Given the description of an element on the screen output the (x, y) to click on. 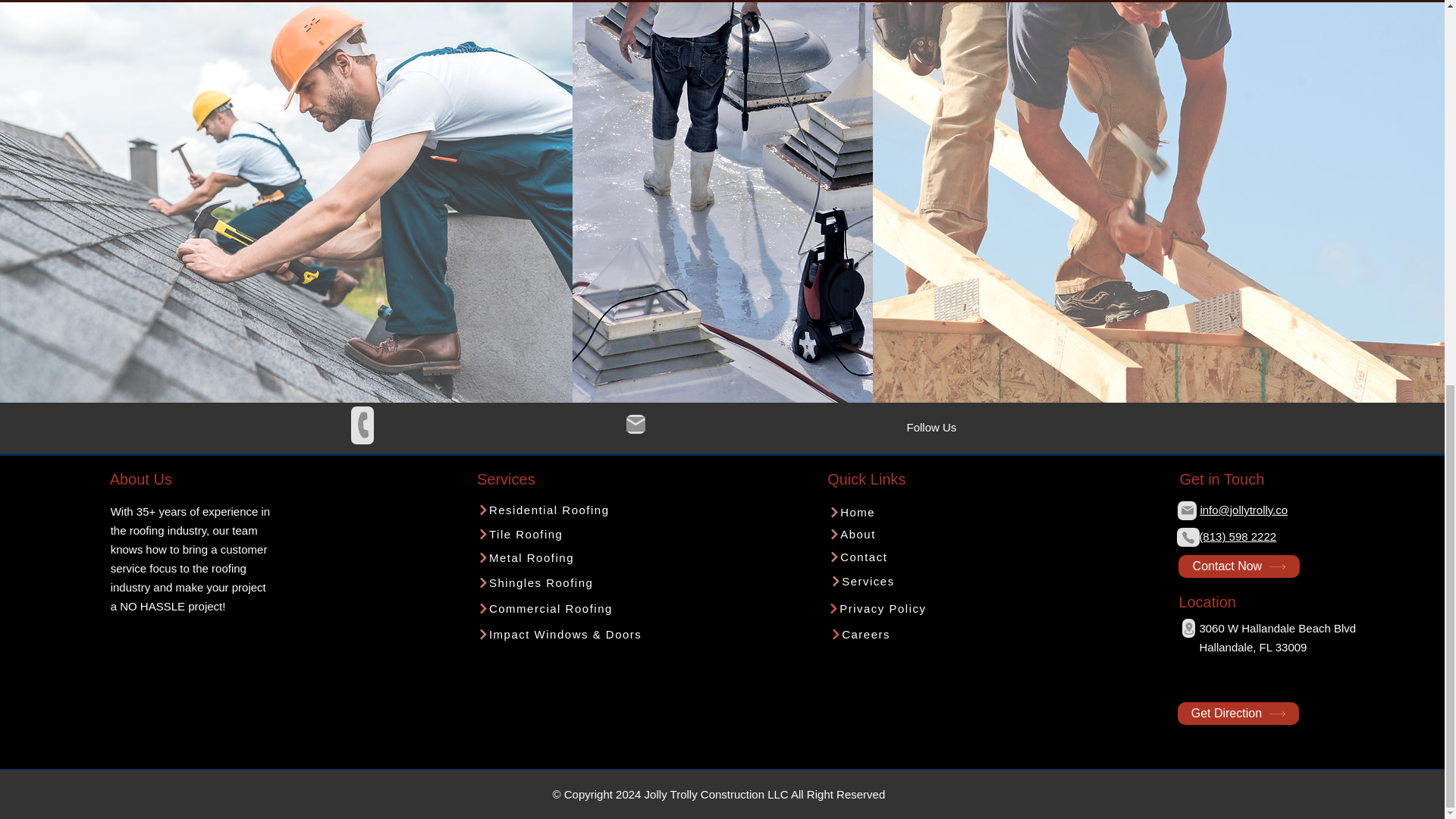
Contact (912, 556)
Services (913, 580)
Contact Now (1238, 566)
Commercial Roofing (561, 608)
Shingles Roofing (561, 582)
Privacy Policy (911, 608)
About (912, 533)
Tile Roofing (561, 533)
Metal Roofing (561, 557)
Get Direction (1237, 712)
